Given the description of an element on the screen output the (x, y) to click on. 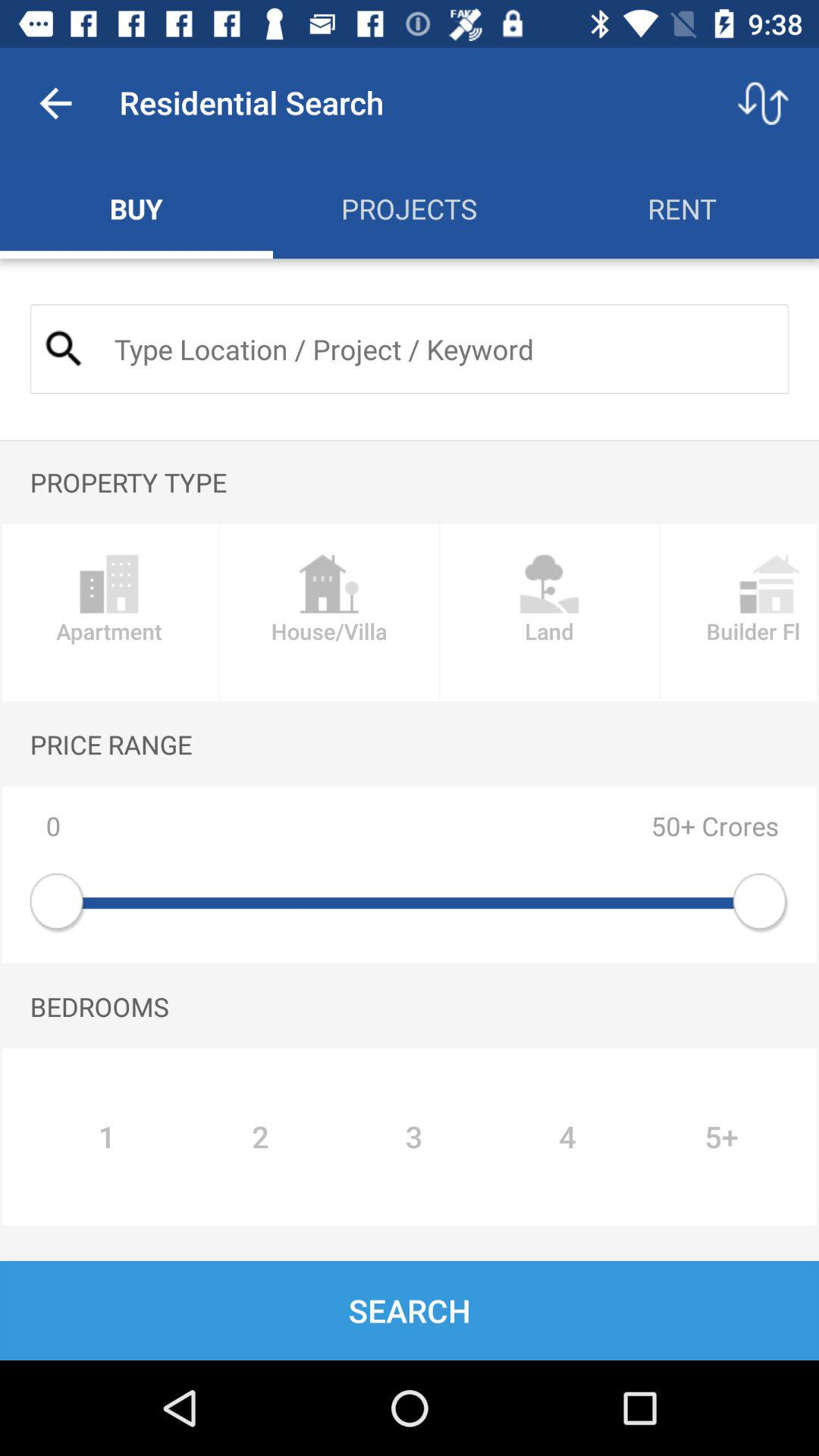
turn off the item next to residential search	 item (763, 103)
